Given the description of an element on the screen output the (x, y) to click on. 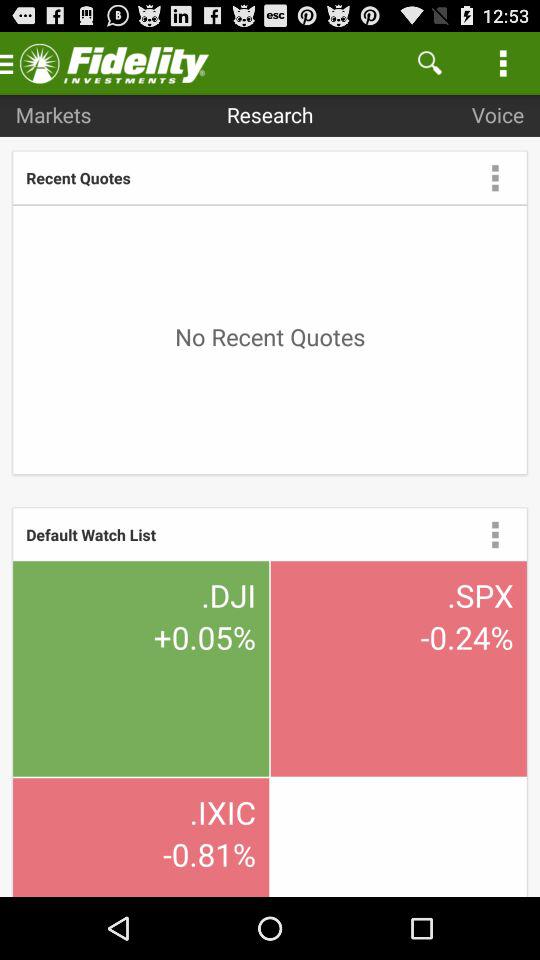
tap icon next to the research item (429, 62)
